Given the description of an element on the screen output the (x, y) to click on. 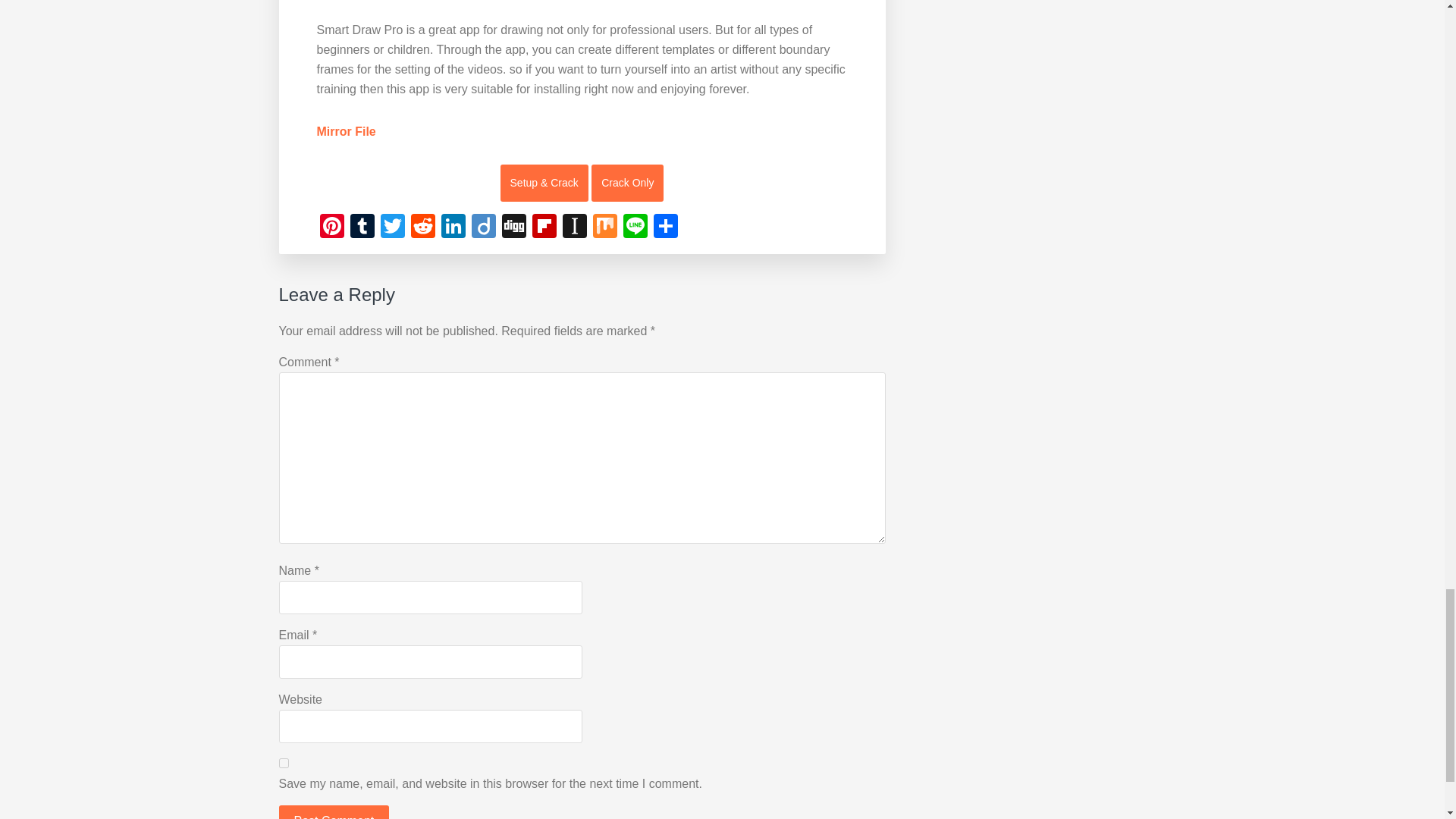
Mix (604, 227)
Crack Only (627, 182)
Pinterest (332, 227)
Tumblr (362, 227)
Tumblr (362, 227)
Diigo (483, 227)
Mix (604, 227)
Instapaper (574, 227)
Reddit (422, 227)
Mirror File (346, 131)
yes (283, 763)
Flipboard (544, 227)
Twitter (392, 227)
Reddit (422, 227)
LinkedIn (453, 227)
